Given the description of an element on the screen output the (x, y) to click on. 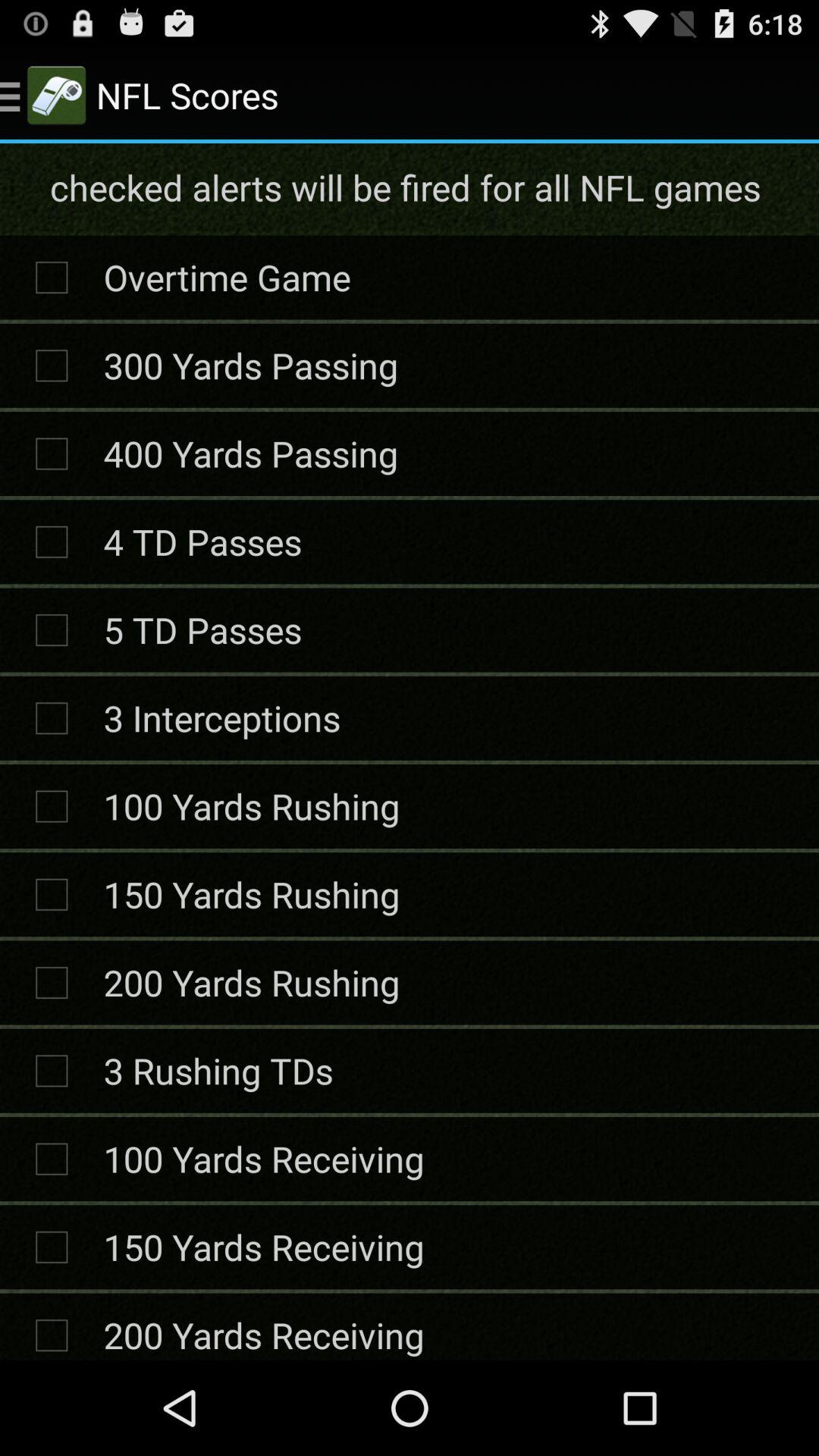
tap the 3 interceptions (221, 717)
